Given the description of an element on the screen output the (x, y) to click on. 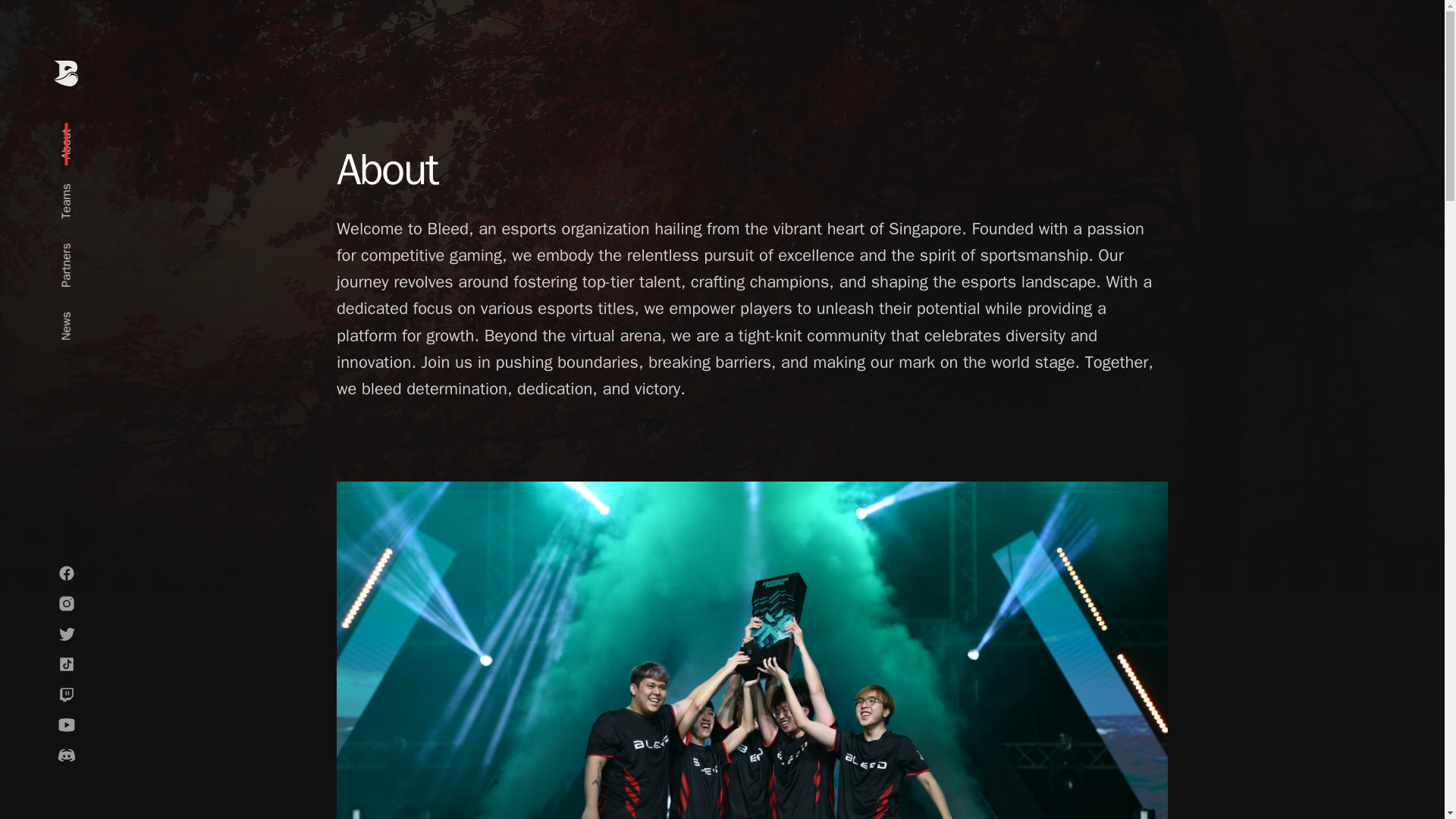
Partners (82, 248)
Teams (77, 189)
About (75, 135)
News (74, 317)
